Given the description of an element on the screen output the (x, y) to click on. 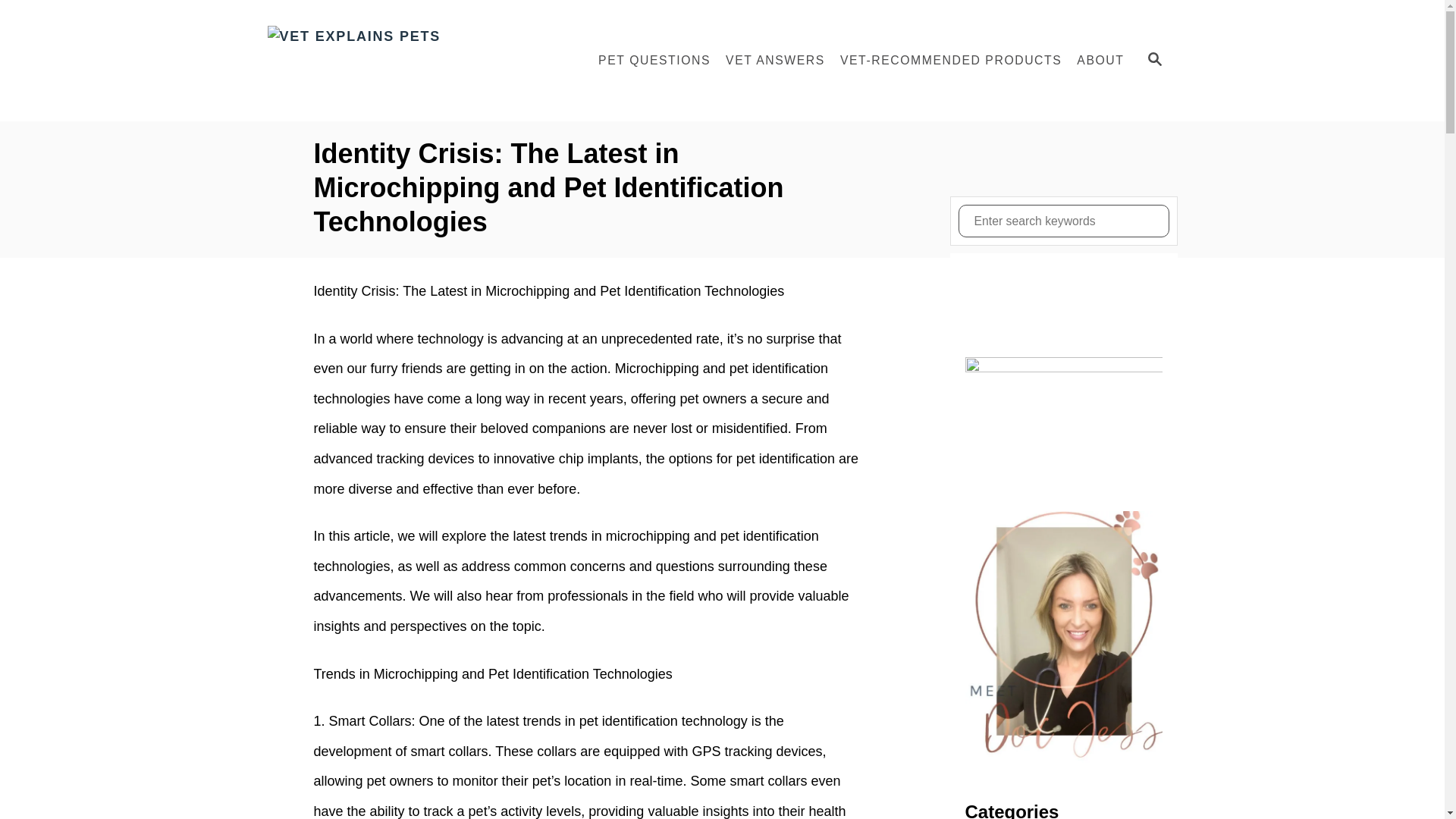
VET-RECOMMENDED PRODUCTS (950, 60)
PET QUESTIONS (654, 60)
SEARCH (1153, 60)
VET ANSWERS (774, 60)
ABOUT (1099, 60)
Search (22, 22)
Vet Explains Pets (403, 60)
Search for: (1063, 220)
